Given the description of an element on the screen output the (x, y) to click on. 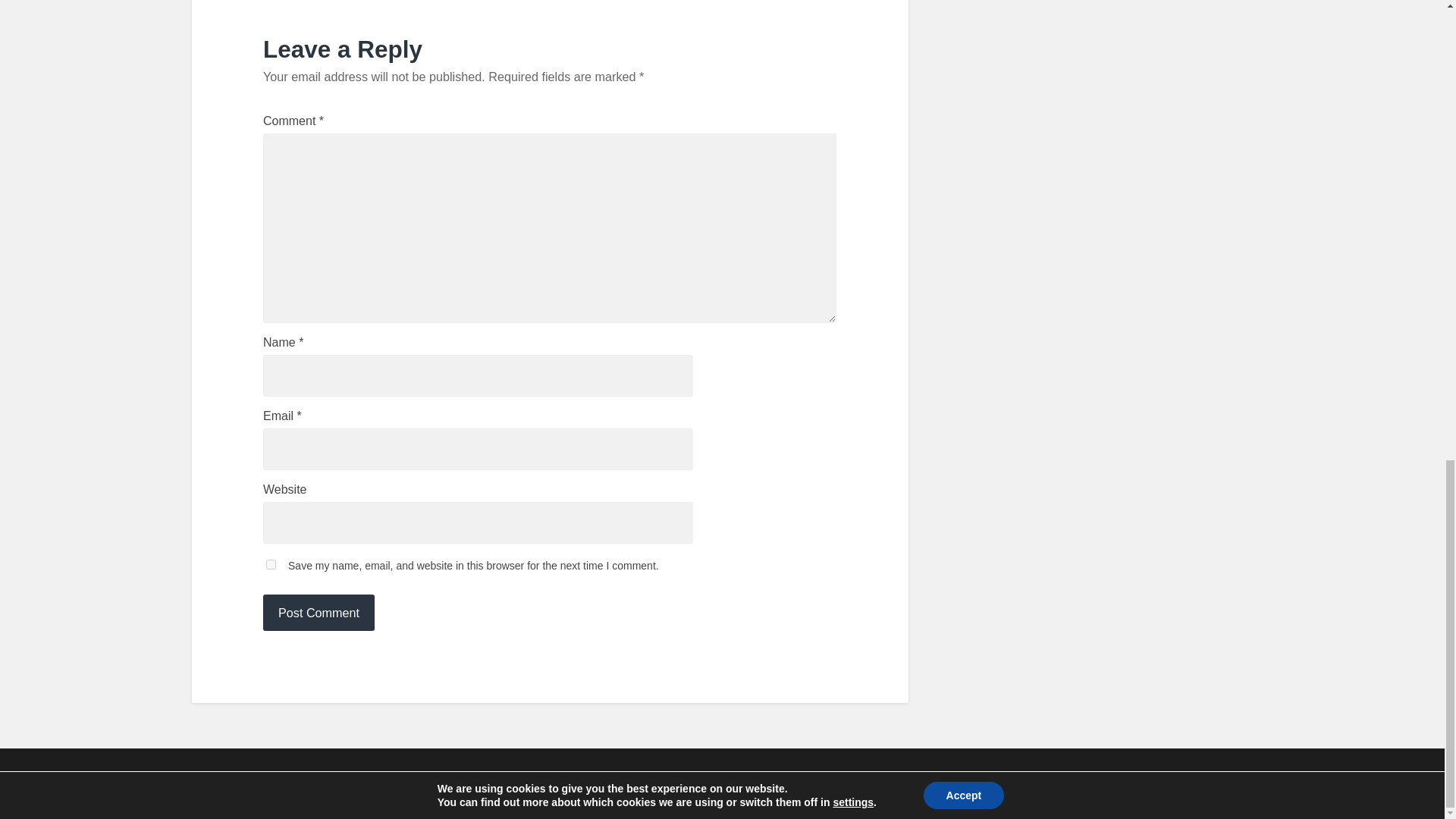
Post Comment (318, 612)
ANDERS NOREN (1167, 782)
yes (271, 564)
LISA A. BRUNDAGE (283, 782)
Post Comment (318, 612)
WORDPRESS (464, 782)
